Given the description of an element on the screen output the (x, y) to click on. 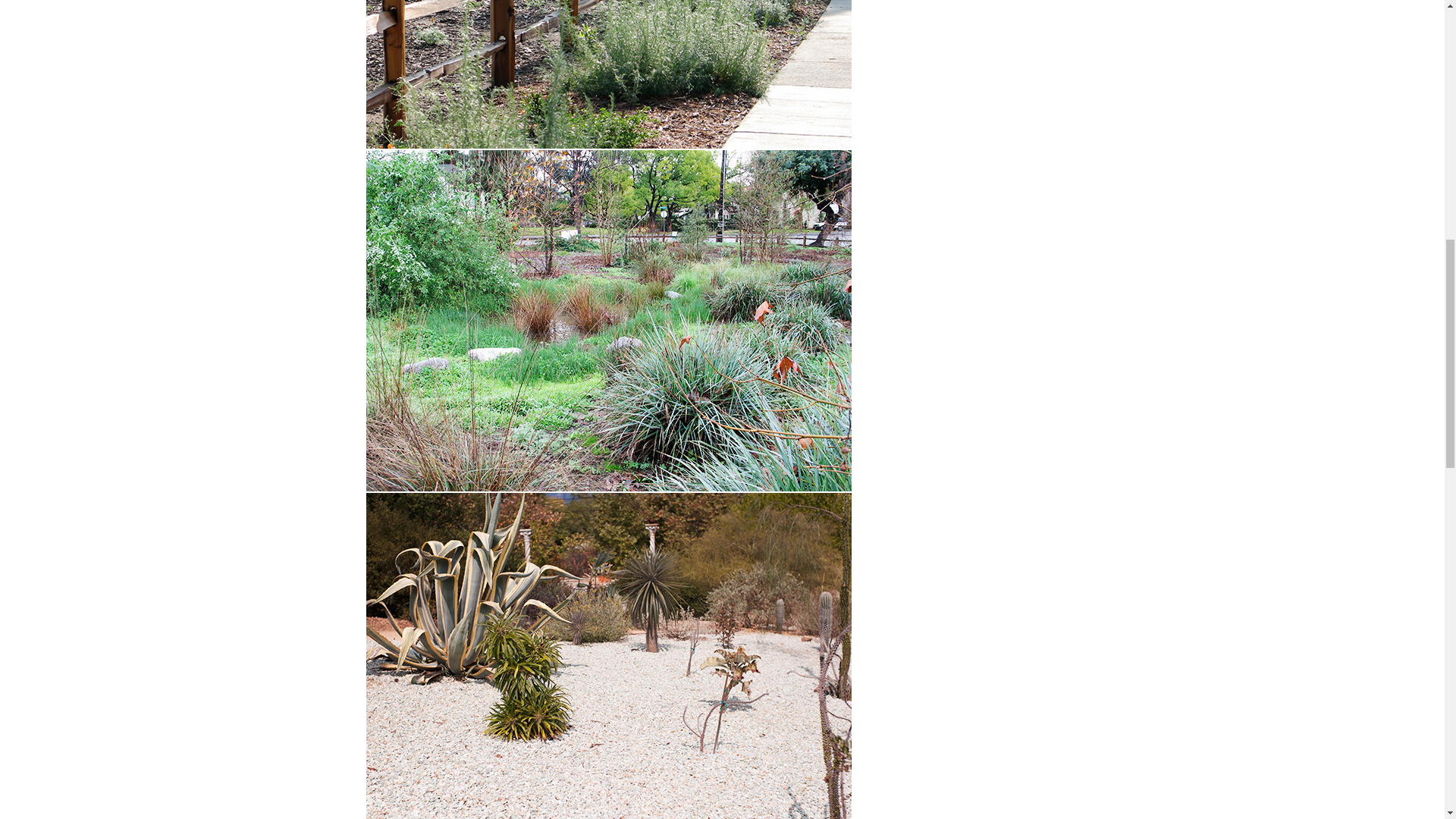
Garden 30 in Pasadena (607, 74)
